Given the description of an element on the screen output the (x, y) to click on. 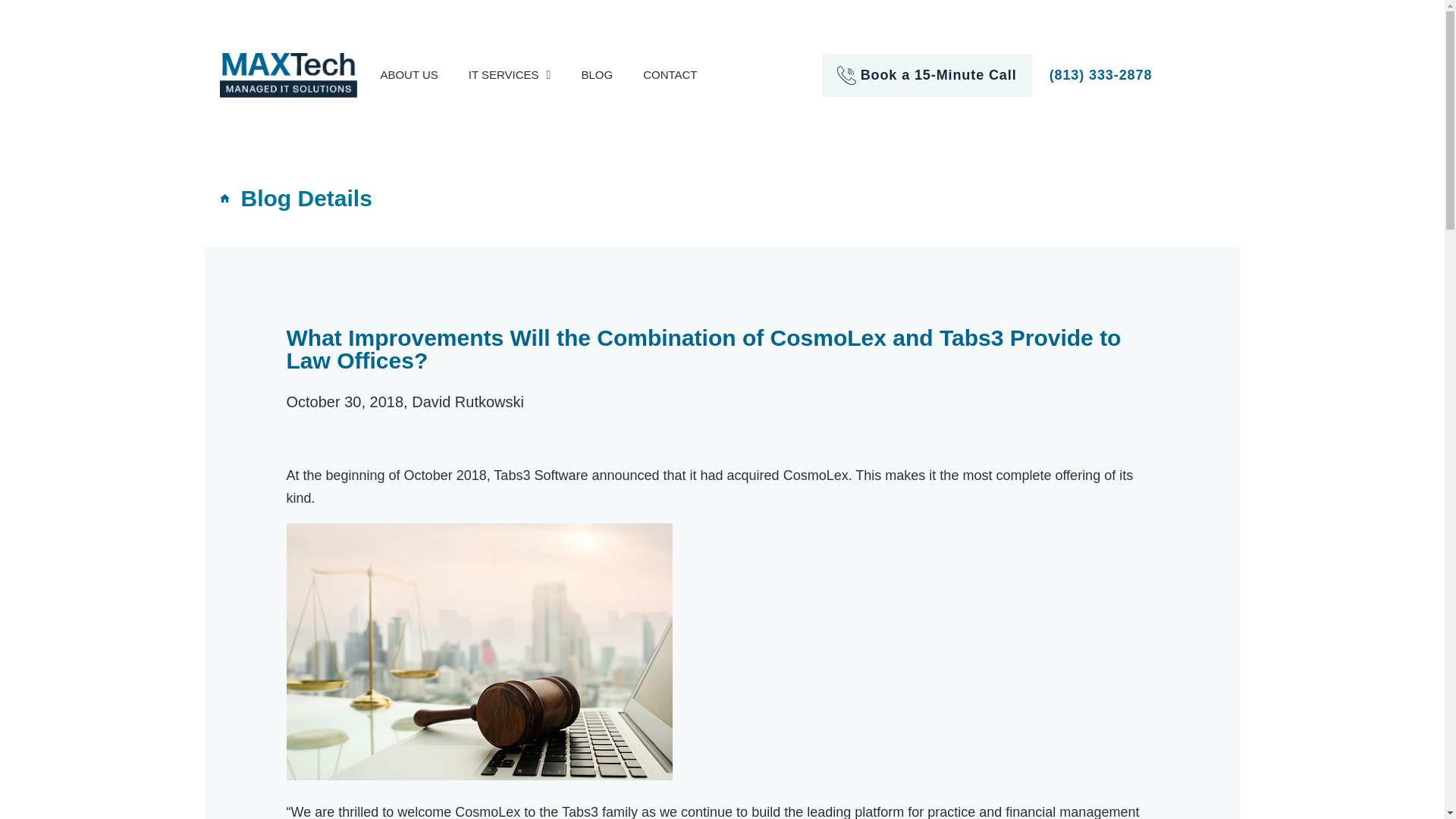
ABOUT US (408, 74)
CONTACT (669, 74)
IT SERVICES (509, 74)
BLOG (596, 74)
Book a 15-Minute Call (938, 74)
